Given the description of an element on the screen output the (x, y) to click on. 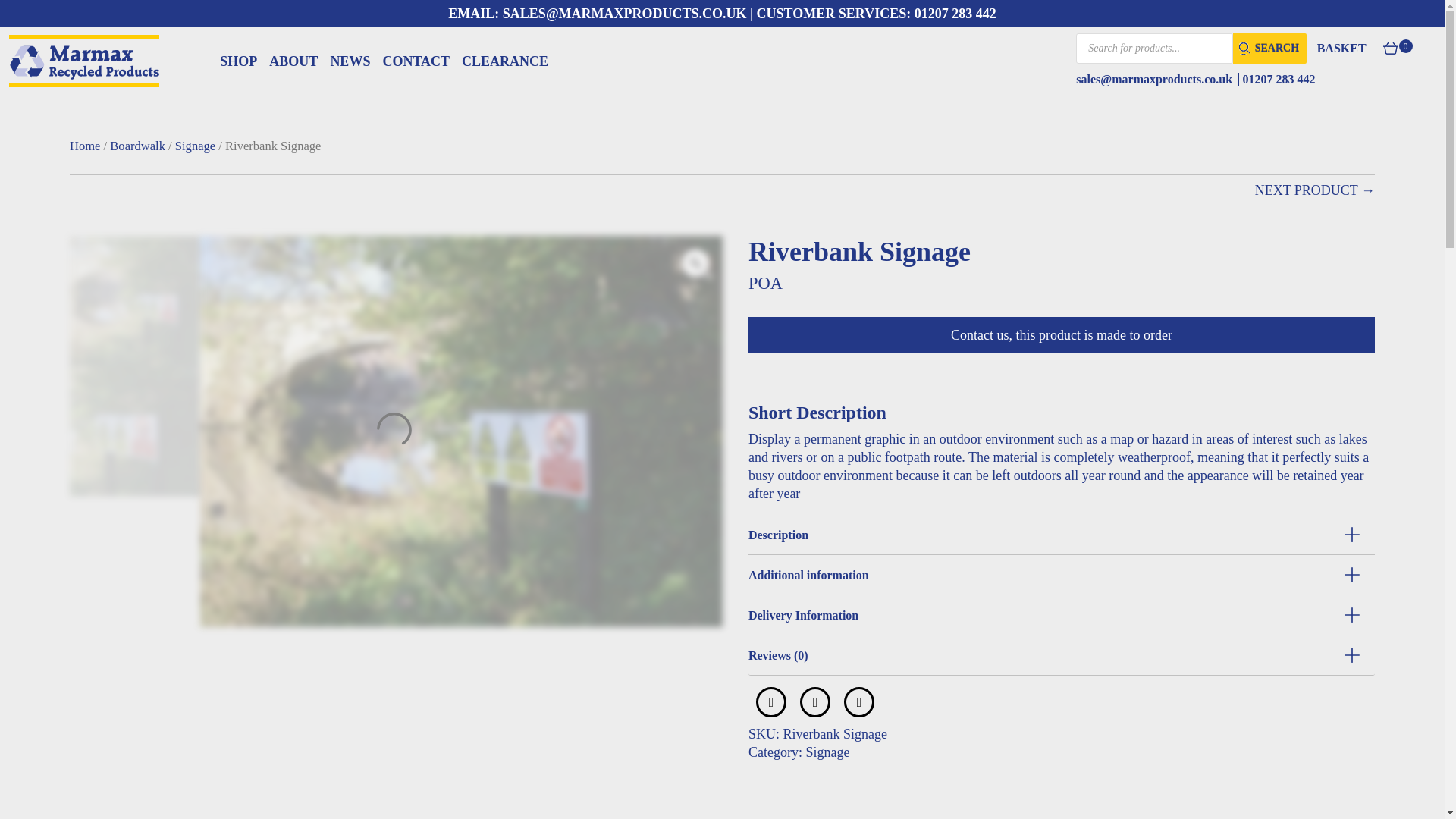
01207 283 442 (1279, 78)
Signage (194, 145)
NEWS (349, 60)
Description (1061, 535)
CLEARANCE (504, 60)
ABOUT (293, 60)
SEARCH (1269, 48)
Home (84, 145)
riverbank-signage-920x600 (134, 300)
CONTACT (415, 60)
Additional information (1061, 575)
Boardwalk (137, 145)
View your shopping cart (1358, 48)
